Given the description of an element on the screen output the (x, y) to click on. 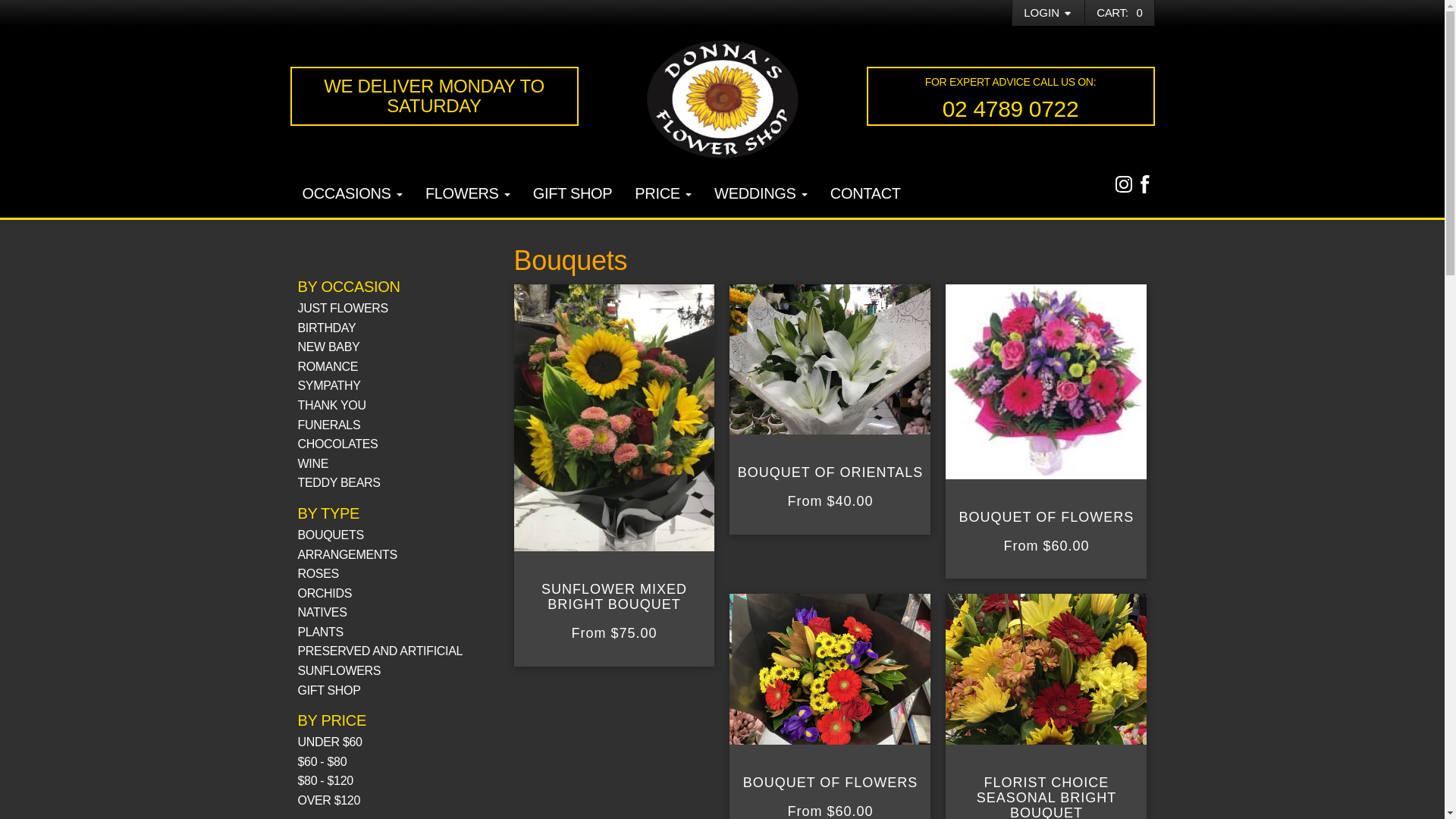
CHOCOLATES Element type: text (337, 443)
$60 - $80 Element type: text (321, 761)
BY PRICE Element type: text (331, 720)
FUNERALS Element type: text (328, 424)
OCCASIONS Element type: text (352, 194)
THANK YOU Element type: text (331, 404)
LOGIN Element type: text (1048, 12)
TEDDY BEARS Element type: text (338, 482)
ROSES Element type: text (317, 573)
NATIVES Element type: text (321, 611)
NEW BABY Element type: text (328, 346)
Facebook Element type: hover (1144, 182)
ROMANCE Element type: text (327, 366)
PRESERVED AND ARTIFICIAL Element type: text (379, 650)
CONTACT Element type: text (865, 194)
CART: 0 Element type: text (1119, 12)
BOUQUETS Element type: text (330, 534)
FLOWERS Element type: text (467, 194)
Bouquet of flowers Element type: hover (829, 668)
$80 - $120 Element type: text (324, 780)
BY TYPE Element type: text (328, 513)
Bouquet of orientals Element type: hover (829, 359)
ORCHIDS Element type: text (324, 592)
WINE Element type: text (312, 463)
GIFT SHOP Element type: text (572, 194)
JUST FLOWERS Element type: text (342, 307)
PRICE Element type: text (662, 194)
BY OCCASION Element type: text (348, 286)
WEDDINGS Element type: text (760, 194)
Donnas Flower Shop Element type: hover (721, 99)
SUNFLOWERS Element type: text (338, 670)
BIRTHDAY Element type: text (326, 327)
ARRANGEMENTS Element type: text (346, 554)
PLANTS Element type: text (319, 631)
Florist choice seasonal bright bouquet  Element type: hover (1045, 668)
GIFT SHOP Element type: text (328, 690)
Bouquet of flowers Element type: hover (1045, 381)
OVER $120 Element type: text (328, 799)
UNDER $60 Element type: text (329, 741)
sunflower mixed bright bouquet Element type: hover (614, 418)
Instagram Element type: hover (1123, 182)
SYMPATHY Element type: text (328, 385)
